Given the description of an element on the screen output the (x, y) to click on. 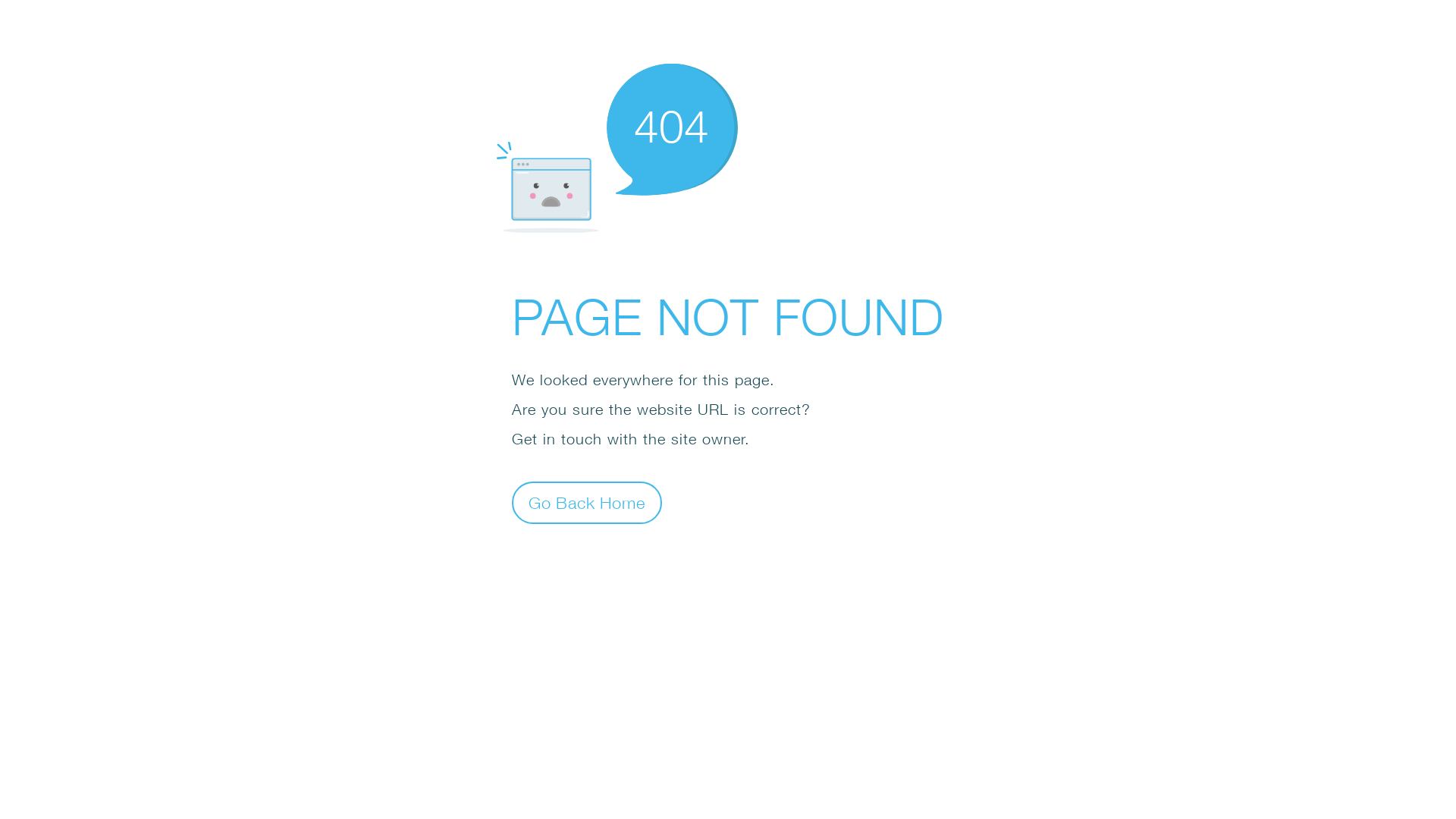
Go Back Home Element type: text (586, 502)
